Given the description of an element on the screen output the (x, y) to click on. 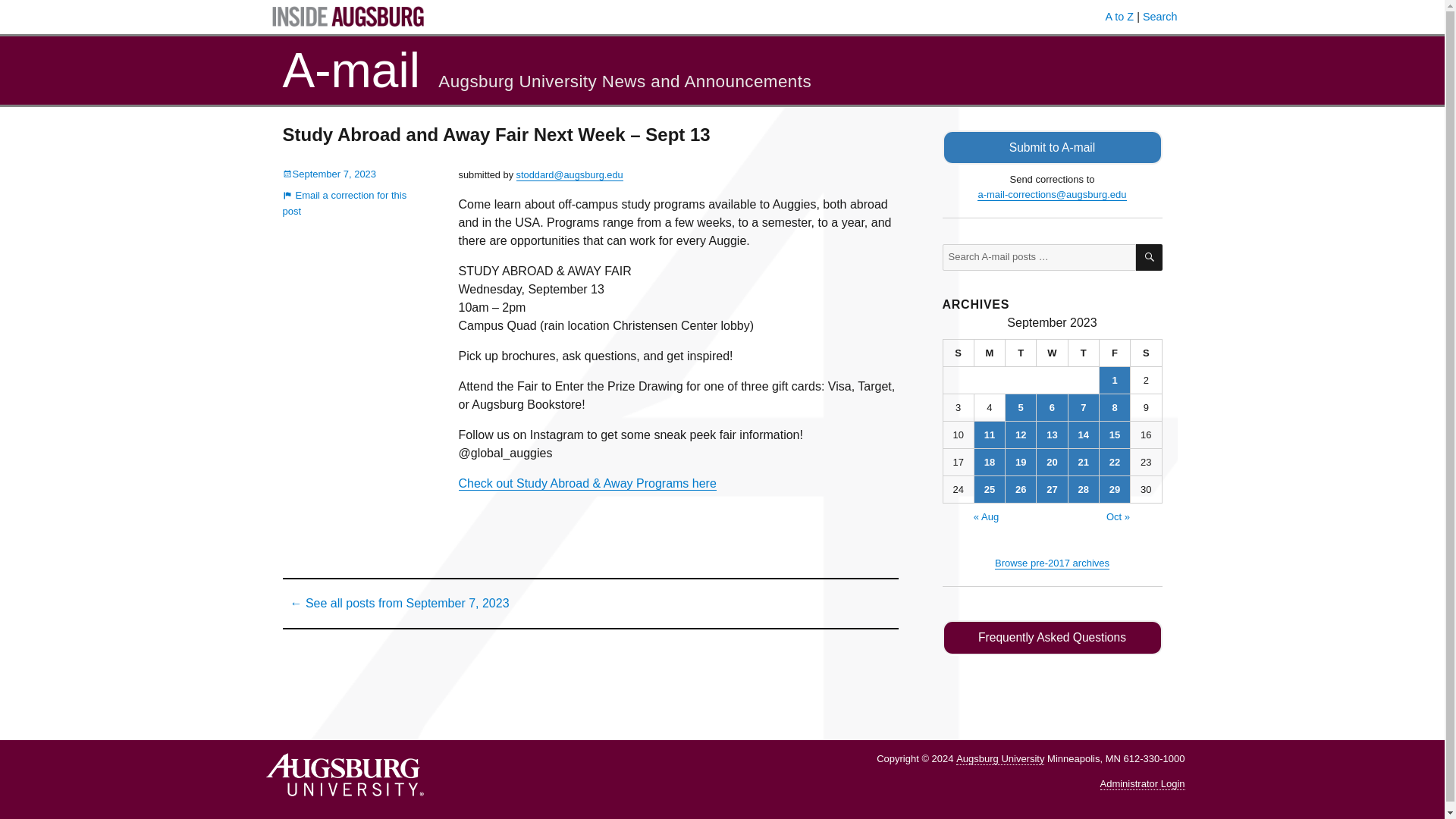
Wednesday (1051, 352)
7 (1083, 406)
Friday (1115, 352)
Frequently Asked Questions (1051, 637)
A to Z (1119, 16)
11 (989, 434)
Browse pre-2017 archives (1051, 562)
27 (1051, 488)
Sunday (958, 352)
Administrator Login (1142, 784)
18 (989, 461)
15 (1114, 434)
28 (1083, 488)
Tuesday (1021, 352)
6 (1051, 406)
